Given the description of an element on the screen output the (x, y) to click on. 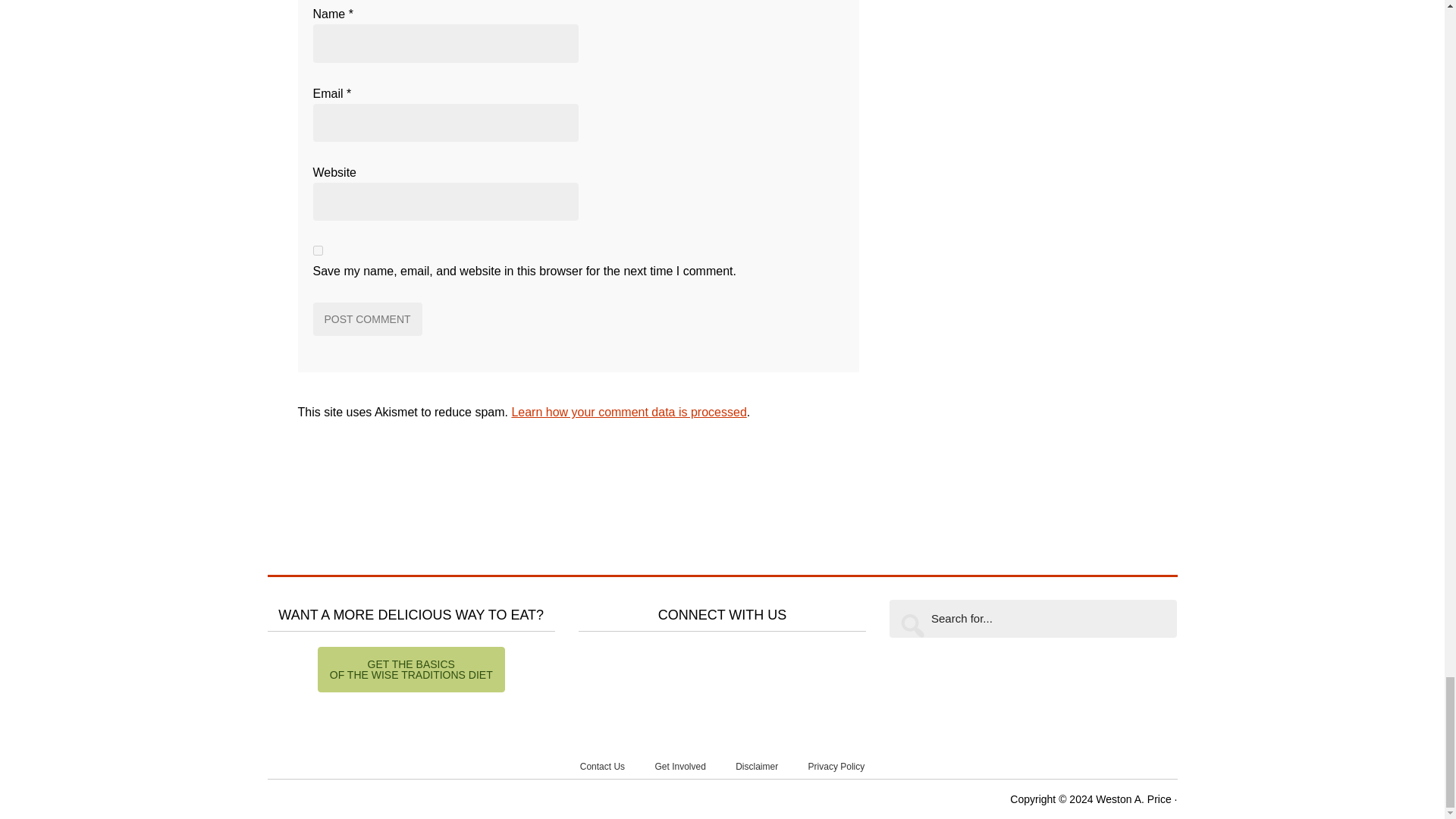
yes (317, 250)
Post Comment (367, 318)
